Given the description of an element on the screen output the (x, y) to click on. 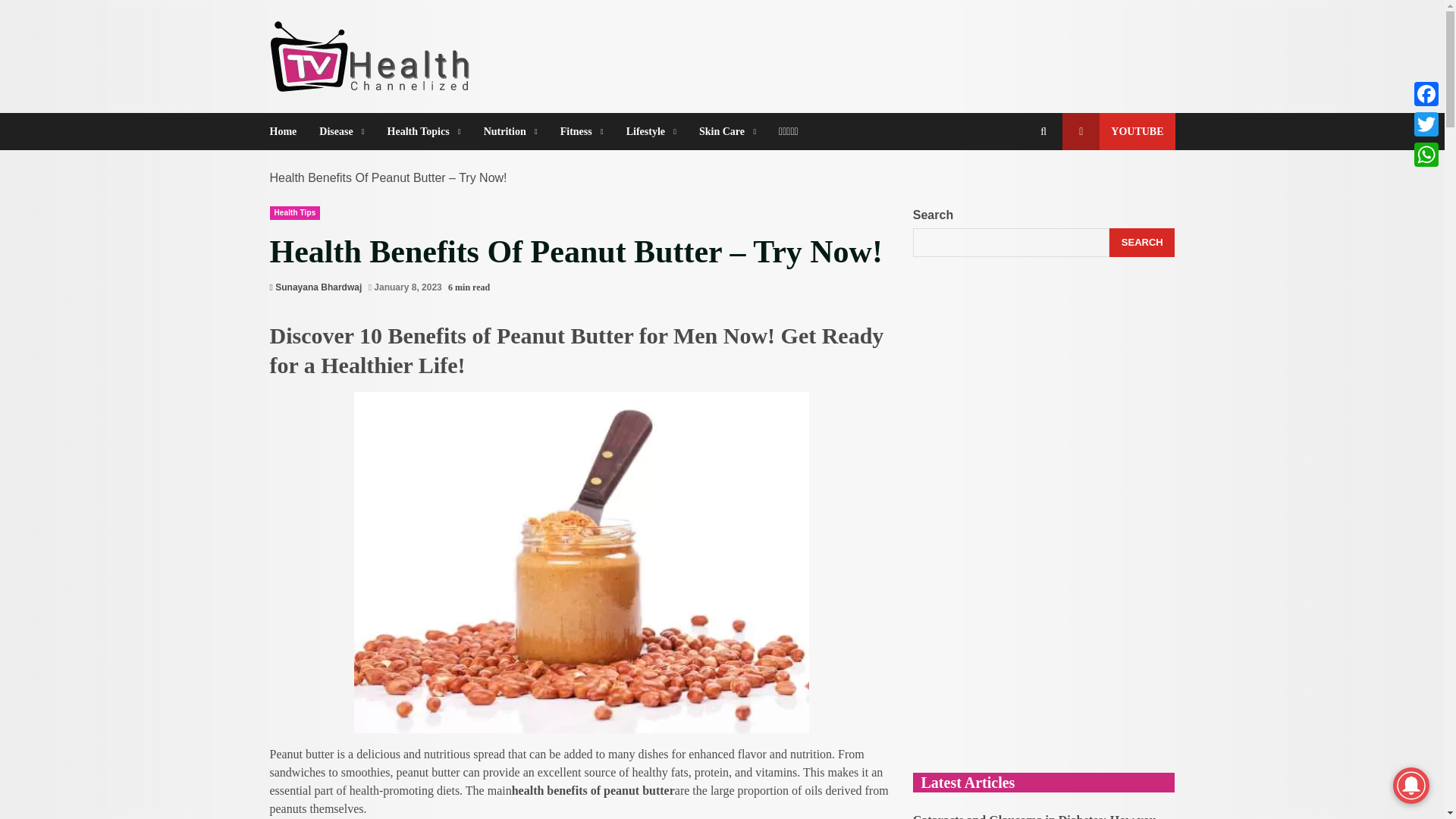
Home (288, 131)
Lifestyle (650, 131)
Disease (341, 131)
Health Topics (423, 131)
Facebook (1425, 93)
WhatsApp (1425, 154)
Fitness (581, 131)
Nutrition (509, 131)
Twitter (1425, 123)
Advertisement (1043, 642)
Skin Care (727, 131)
